Given the description of an element on the screen output the (x, y) to click on. 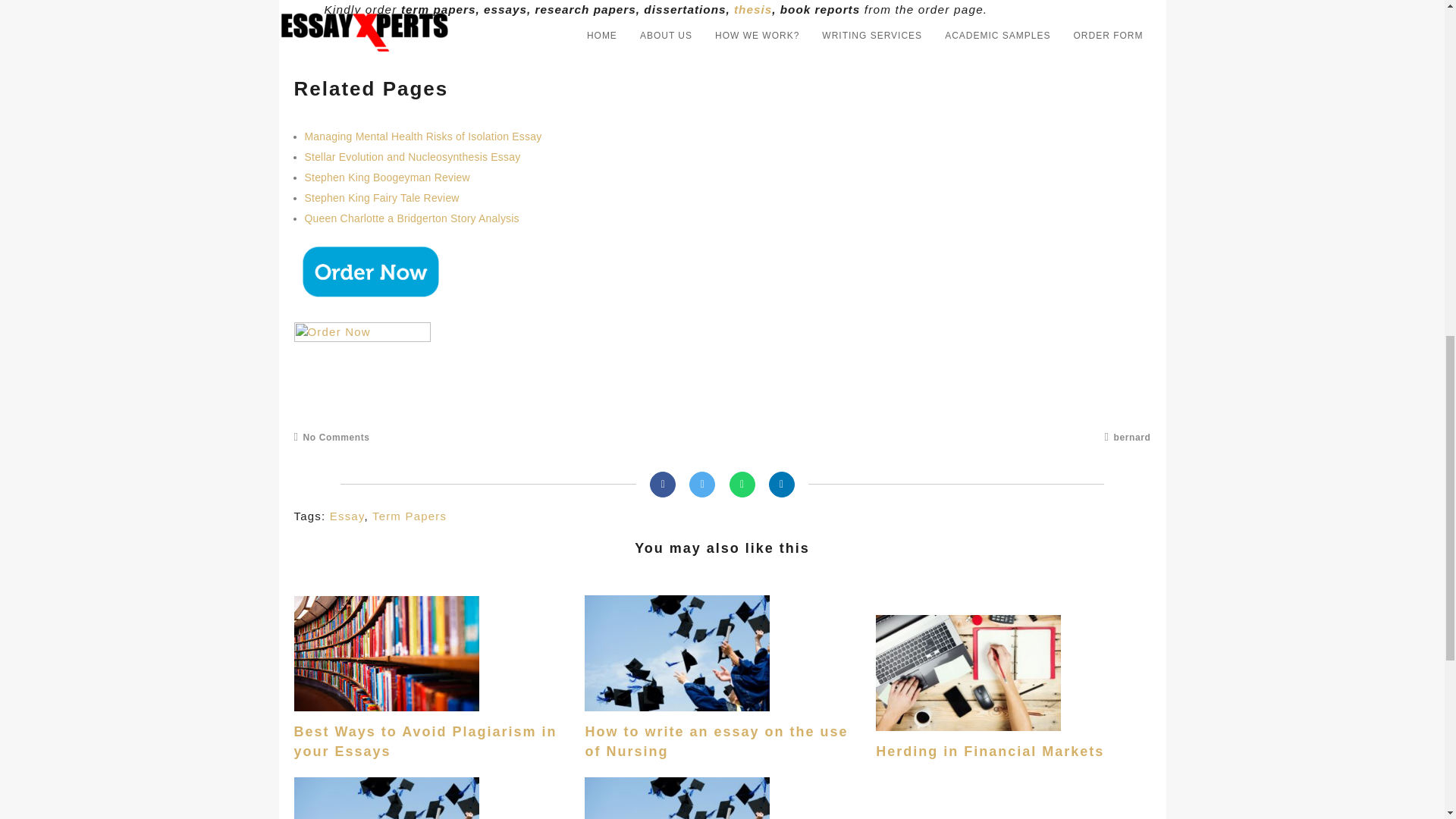
Order Now (362, 367)
Order Now (369, 271)
Posts by bernard (1128, 437)
